Given the description of an element on the screen output the (x, y) to click on. 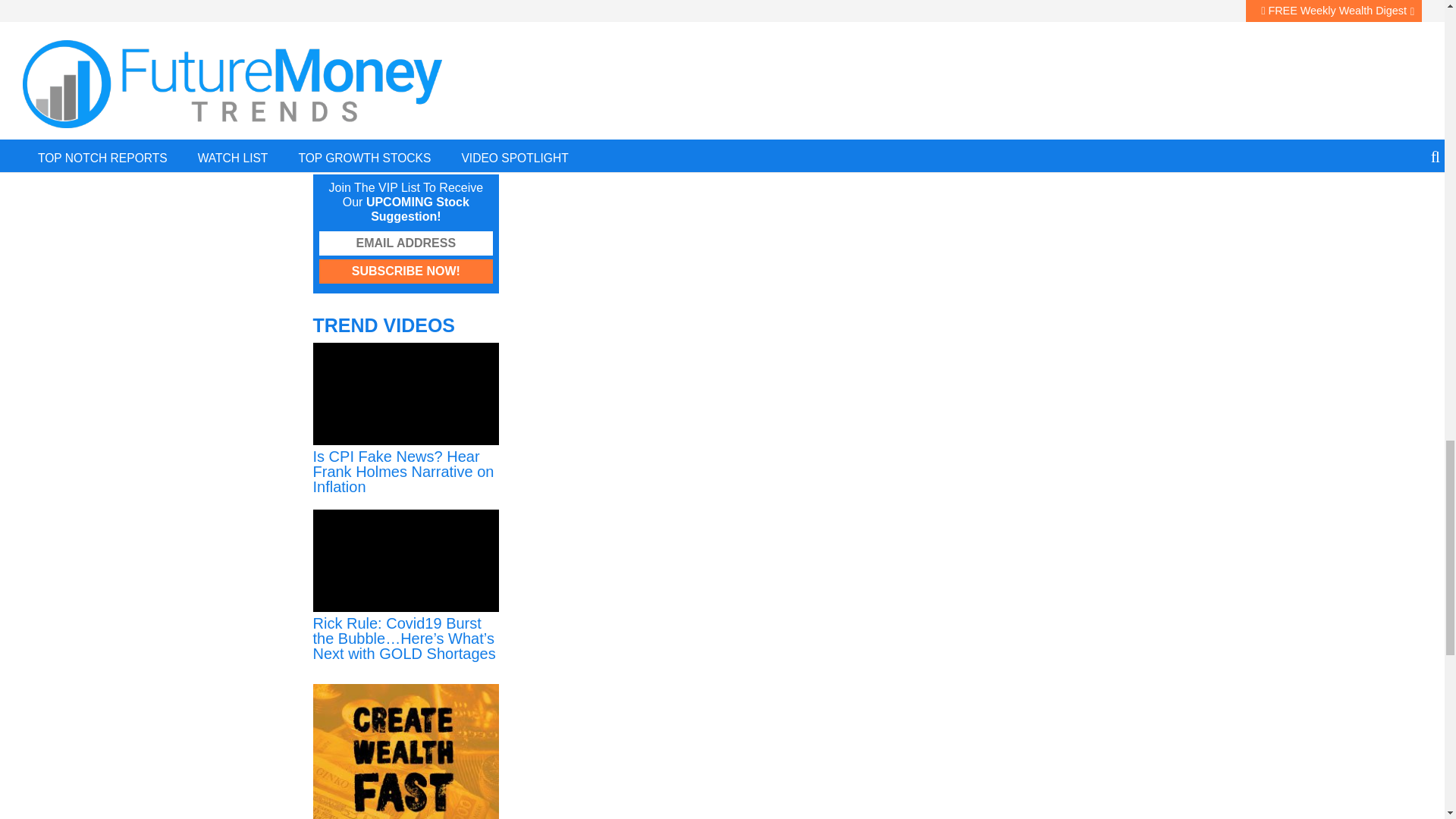
Search (456, 136)
Search (456, 136)
Subscribe Now! (405, 271)
Subscribe Now! (405, 271)
